Given the description of an element on the screen output the (x, y) to click on. 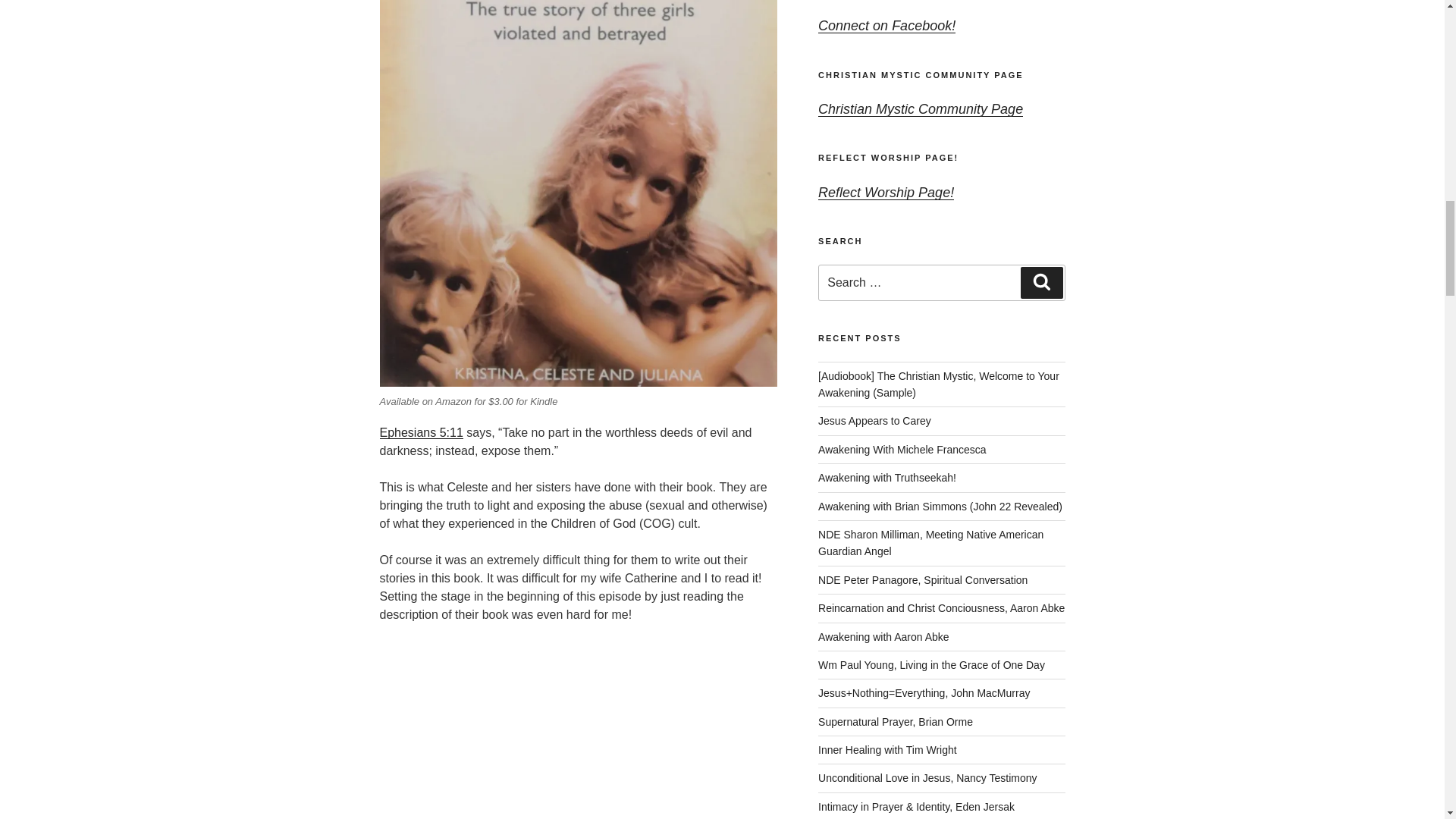
Ephesians 5:11 (420, 431)
